Given the description of an element on the screen output the (x, y) to click on. 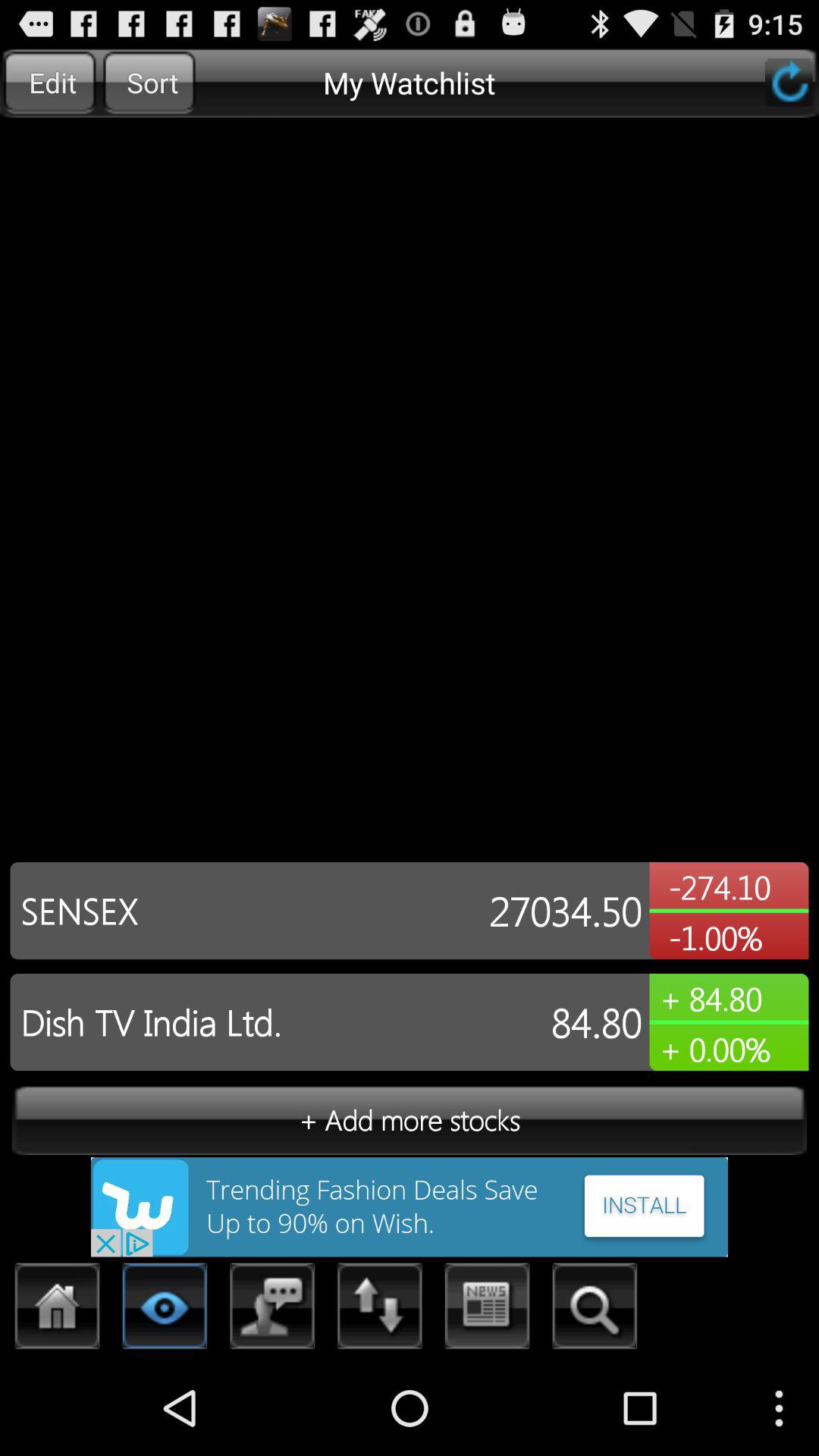
go to news (487, 1310)
